Given the description of an element on the screen output the (x, y) to click on. 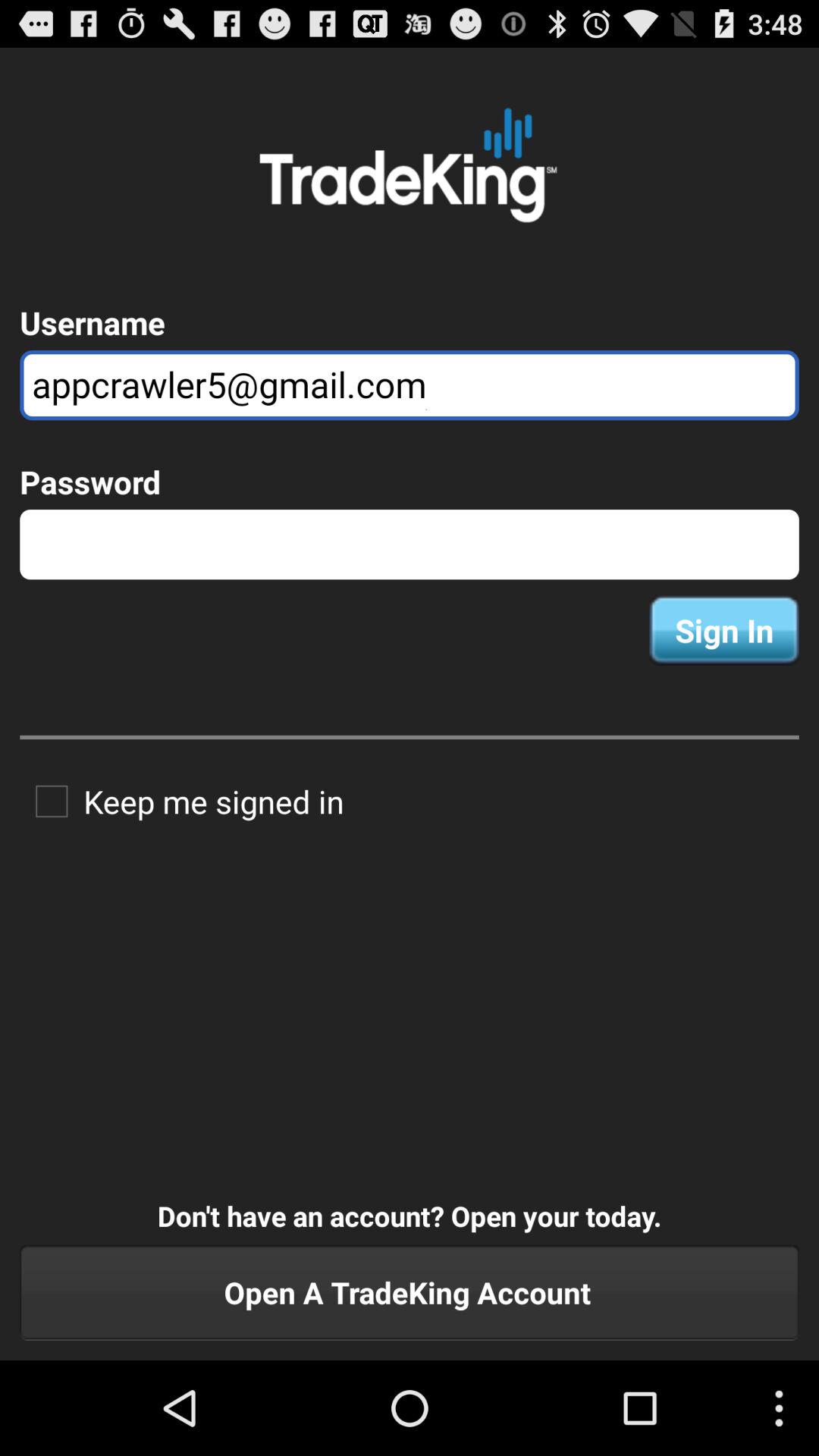
turn off the icon on the right (724, 630)
